Given the description of an element on the screen output the (x, y) to click on. 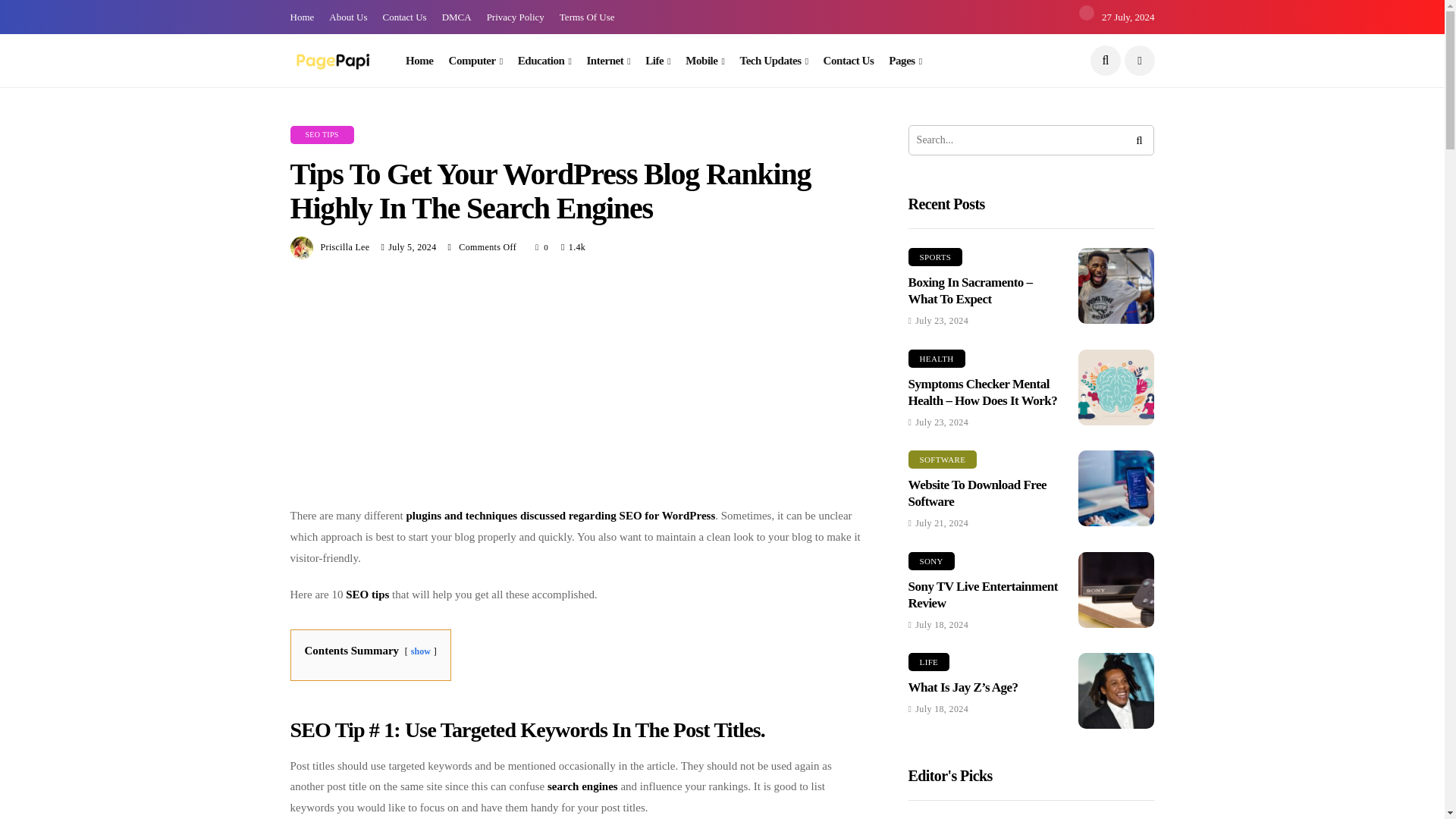
Posts by Priscilla Lee (344, 246)
Contact Us (403, 17)
Education (545, 60)
Internet (608, 60)
Advertisement (577, 391)
Mobile (704, 60)
DMCA (456, 17)
Privacy Policy (515, 17)
Computer (475, 60)
Home (301, 17)
Like (542, 246)
Life (657, 60)
Terms Of Use (586, 17)
Home (419, 60)
About Us (347, 17)
